Given the description of an element on the screen output the (x, y) to click on. 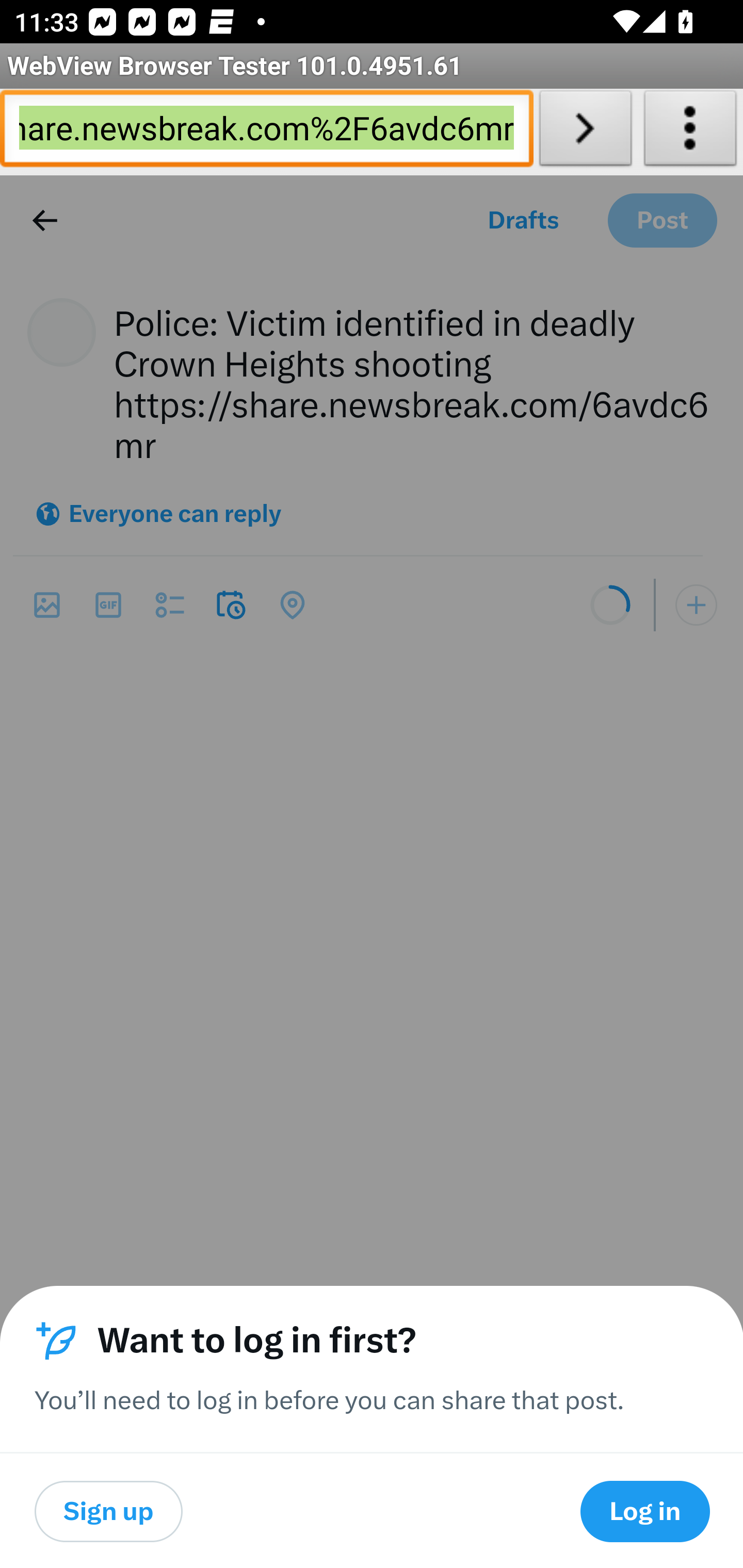
Load URL (585, 132)
About WebView (690, 132)
